Given the description of an element on the screen output the (x, y) to click on. 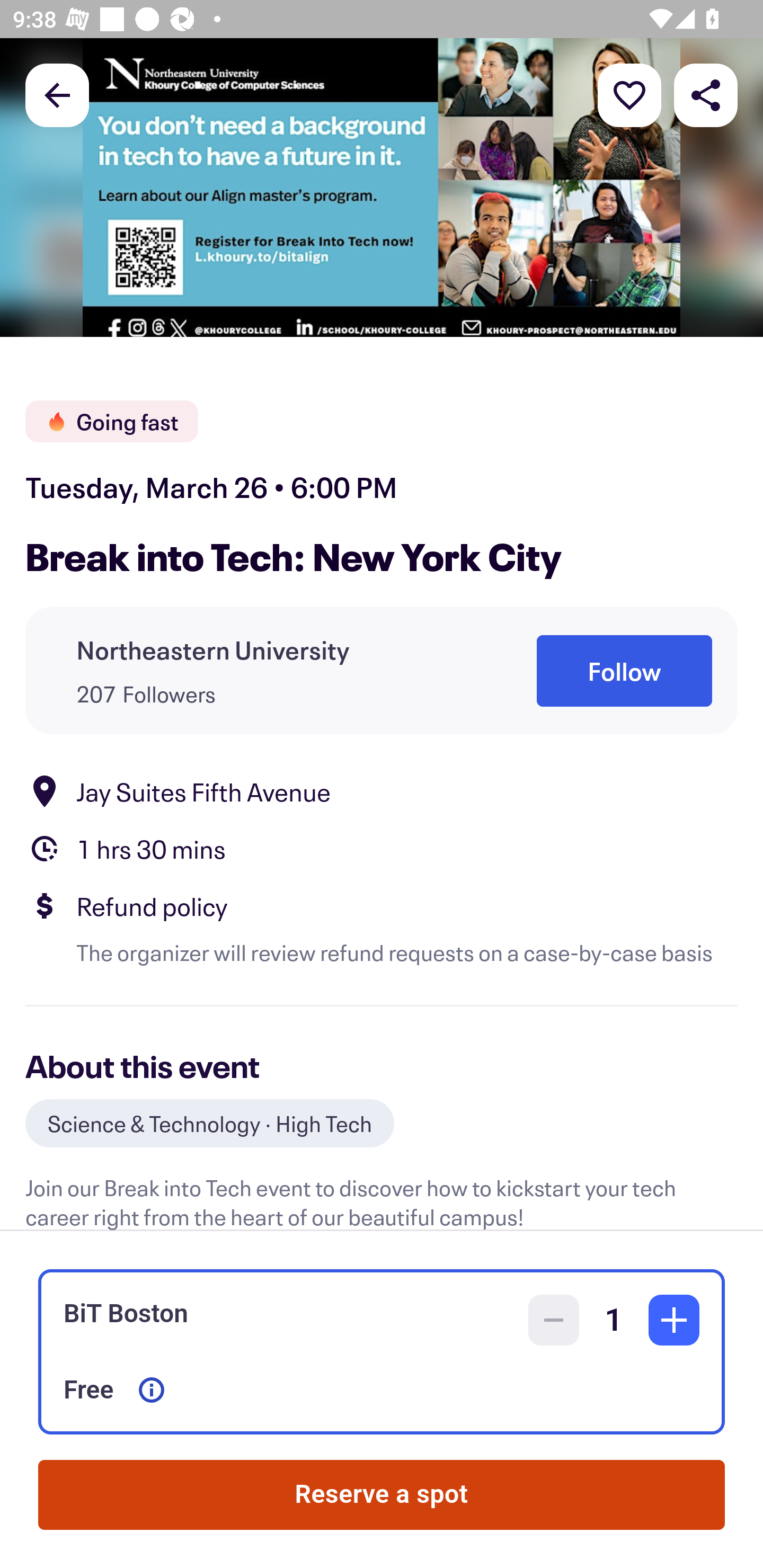
Back (57, 94)
More (629, 94)
Share (705, 94)
Northeastern University (212, 649)
Follow (623, 670)
Location Jay Suites Fifth Avenue (381, 790)
